Given the description of an element on the screen output the (x, y) to click on. 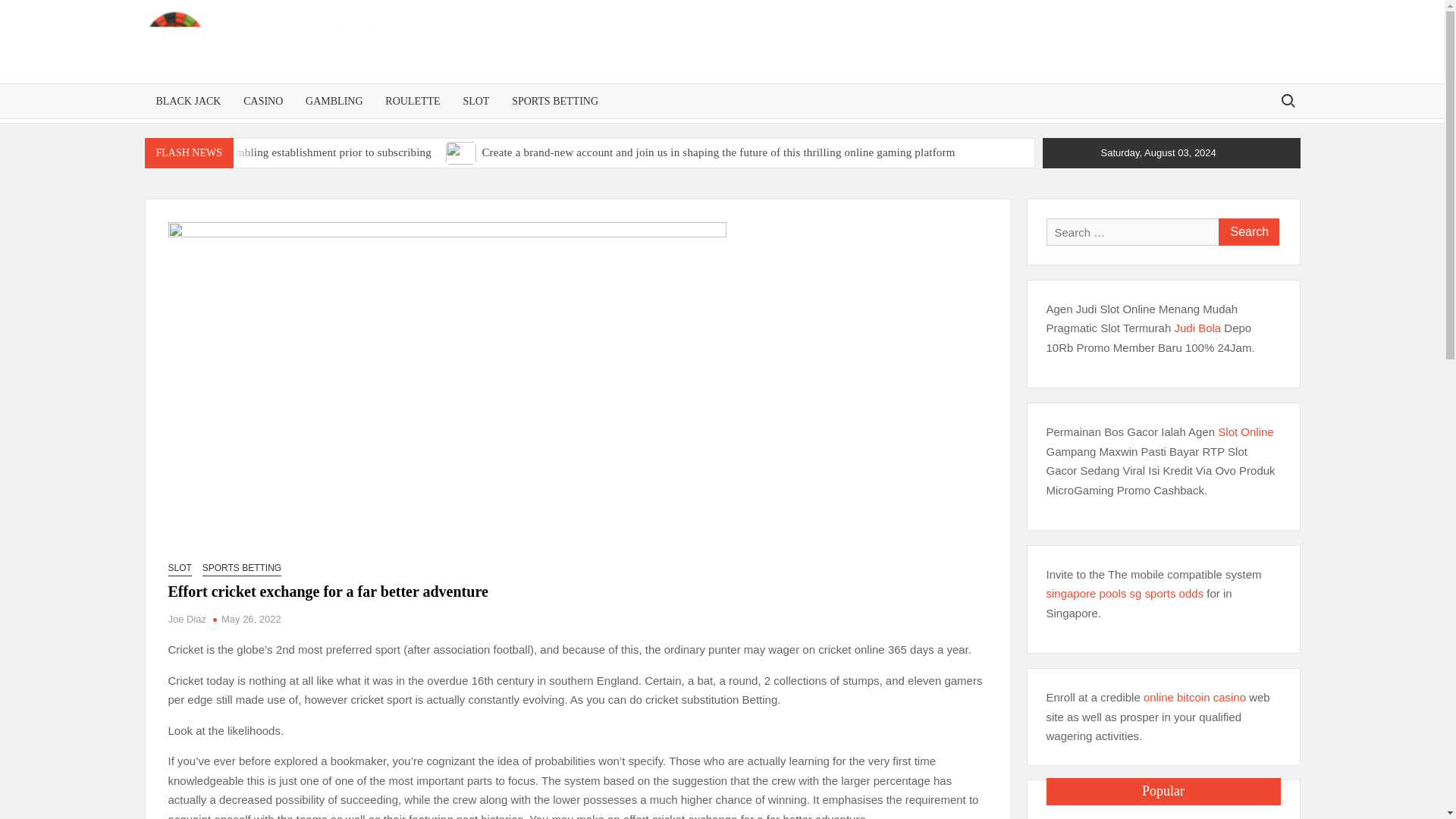
promote liable video gaming methods (161, 177)
SLOT (475, 100)
GAMBLING (334, 100)
SPORTS BETTING (555, 100)
BLACK JACK (187, 100)
a mobile gambling establishment prior to subscribing (305, 152)
Search (1247, 231)
emotional gameplay for hours of enjoyable (613, 177)
CASINO (262, 100)
AGENQQSLOT.COM (555, 60)
ROULETTE (412, 100)
Search for: (1287, 100)
